Given the description of an element on the screen output the (x, y) to click on. 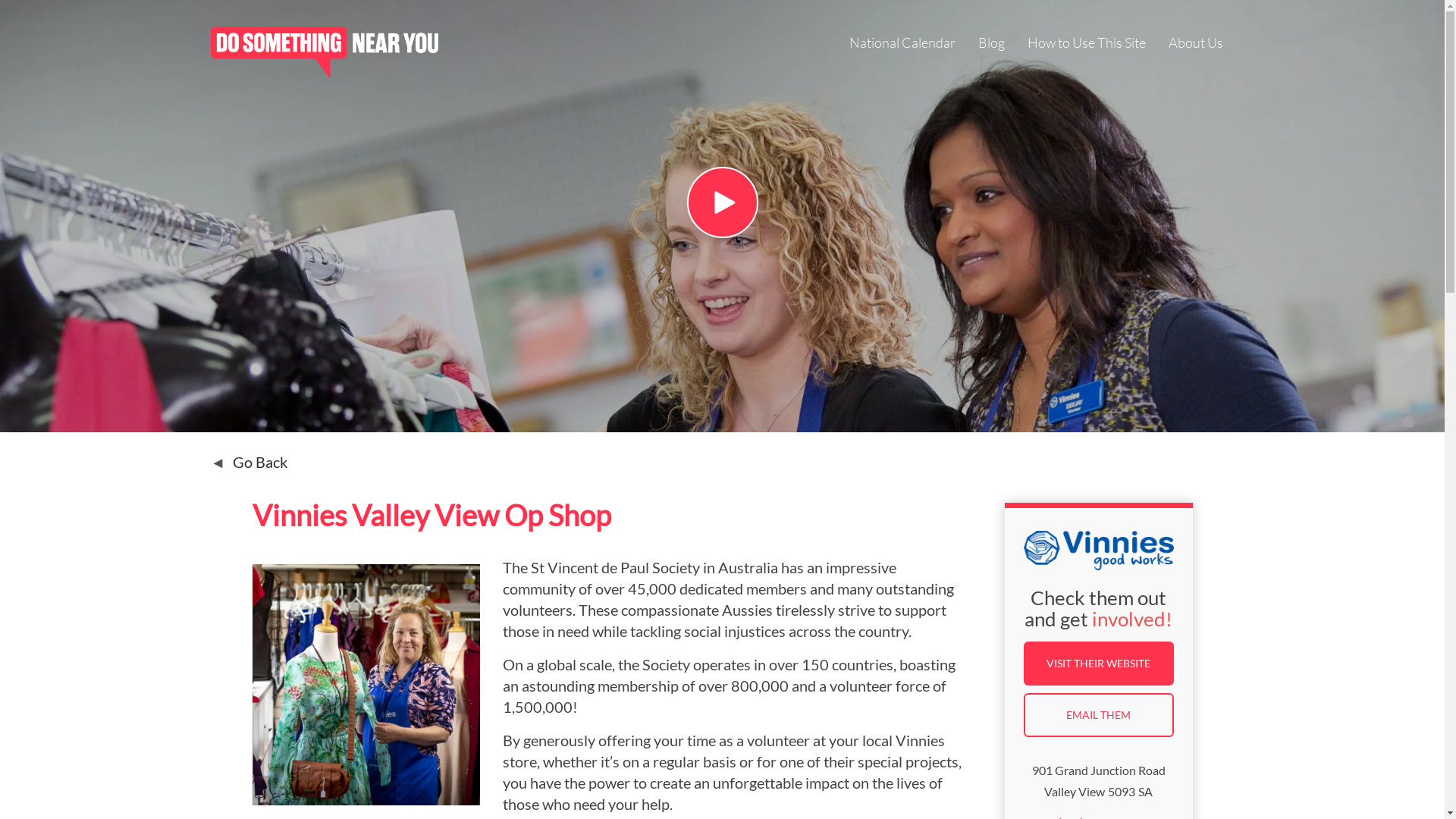
Go Back Element type: text (249, 461)
Blog Element type: text (991, 44)
VISIT THEIR WEBSITE Element type: text (1098, 663)
How to Use This Site Element type: text (1085, 44)
About Us Element type: text (1194, 44)
EMAIL THEM Element type: text (1098, 715)
National Calendar Element type: text (902, 44)
